Given the description of an element on the screen output the (x, y) to click on. 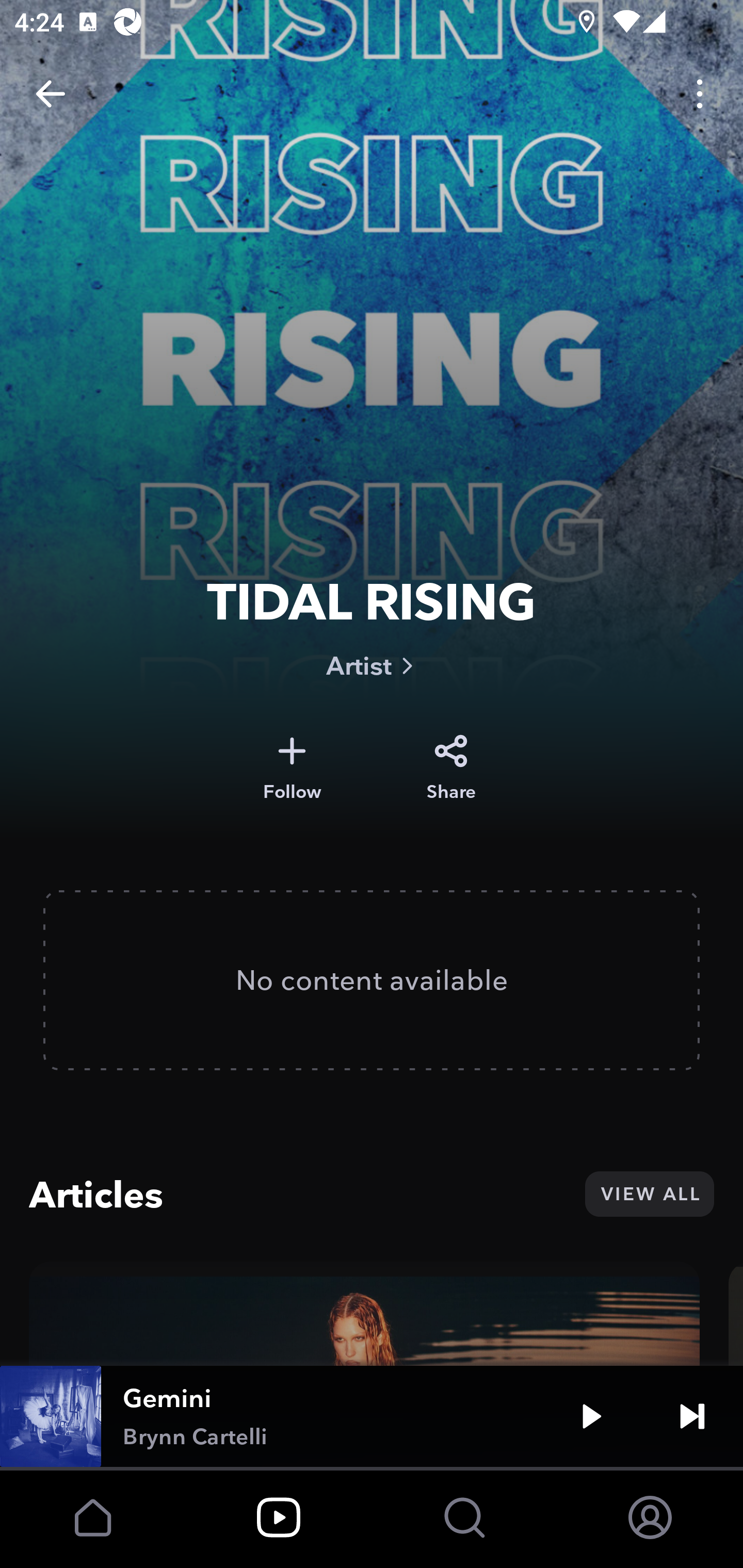
Options (699, 93)
Artist (371, 665)
Follow (291, 767)
Share (450, 767)
VIEW ALL (649, 1193)
Gemini Brynn Cartelli Play (371, 1416)
Play (590, 1416)
